Given the description of an element on the screen output the (x, y) to click on. 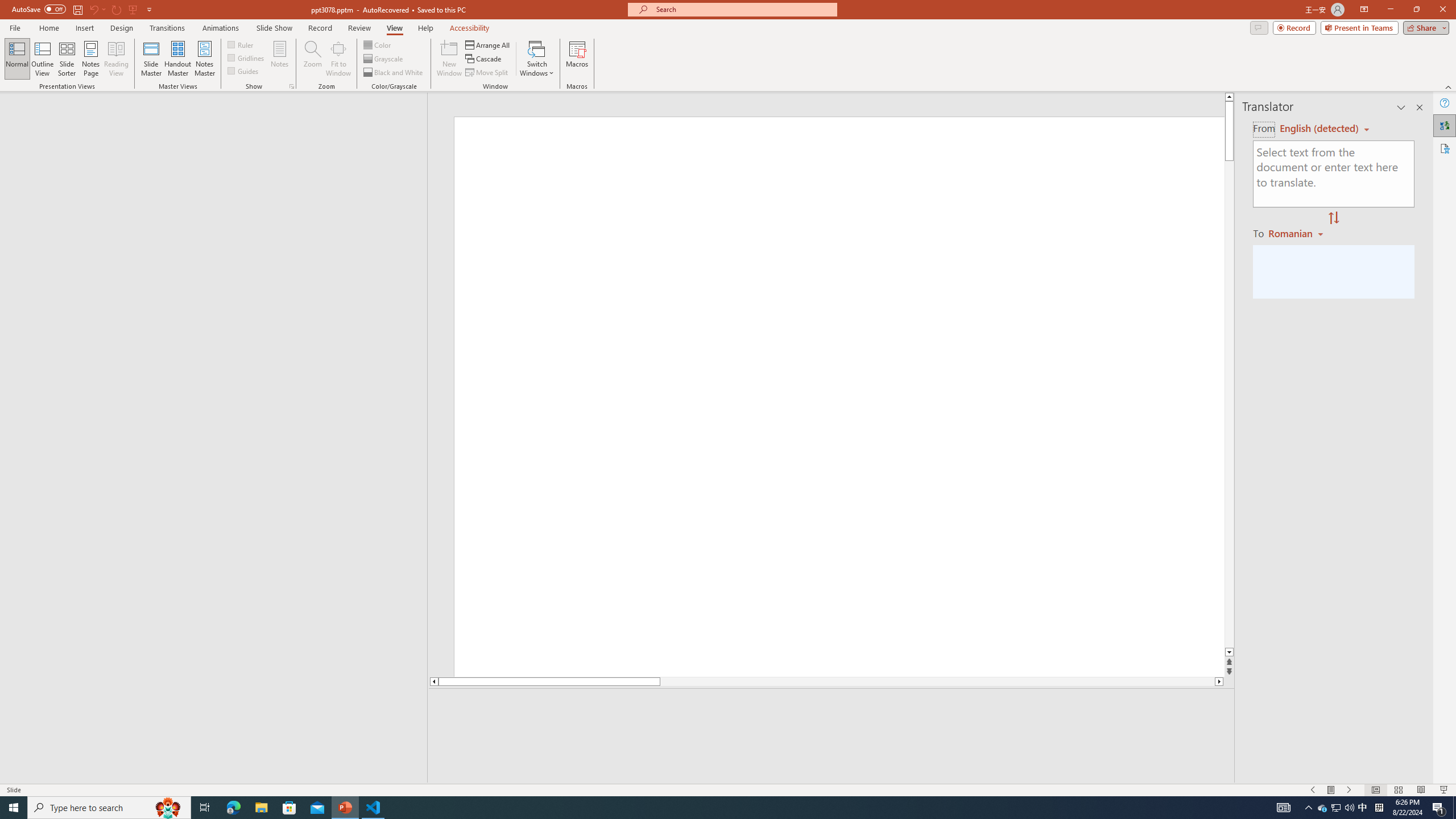
Switch Windows (537, 58)
Outline View (42, 58)
Menu On (1331, 790)
New Window (449, 58)
Slide Notes (831, 705)
Zoom... (312, 58)
Macros (576, 58)
Ruler (241, 44)
